Given the description of an element on the screen output the (x, y) to click on. 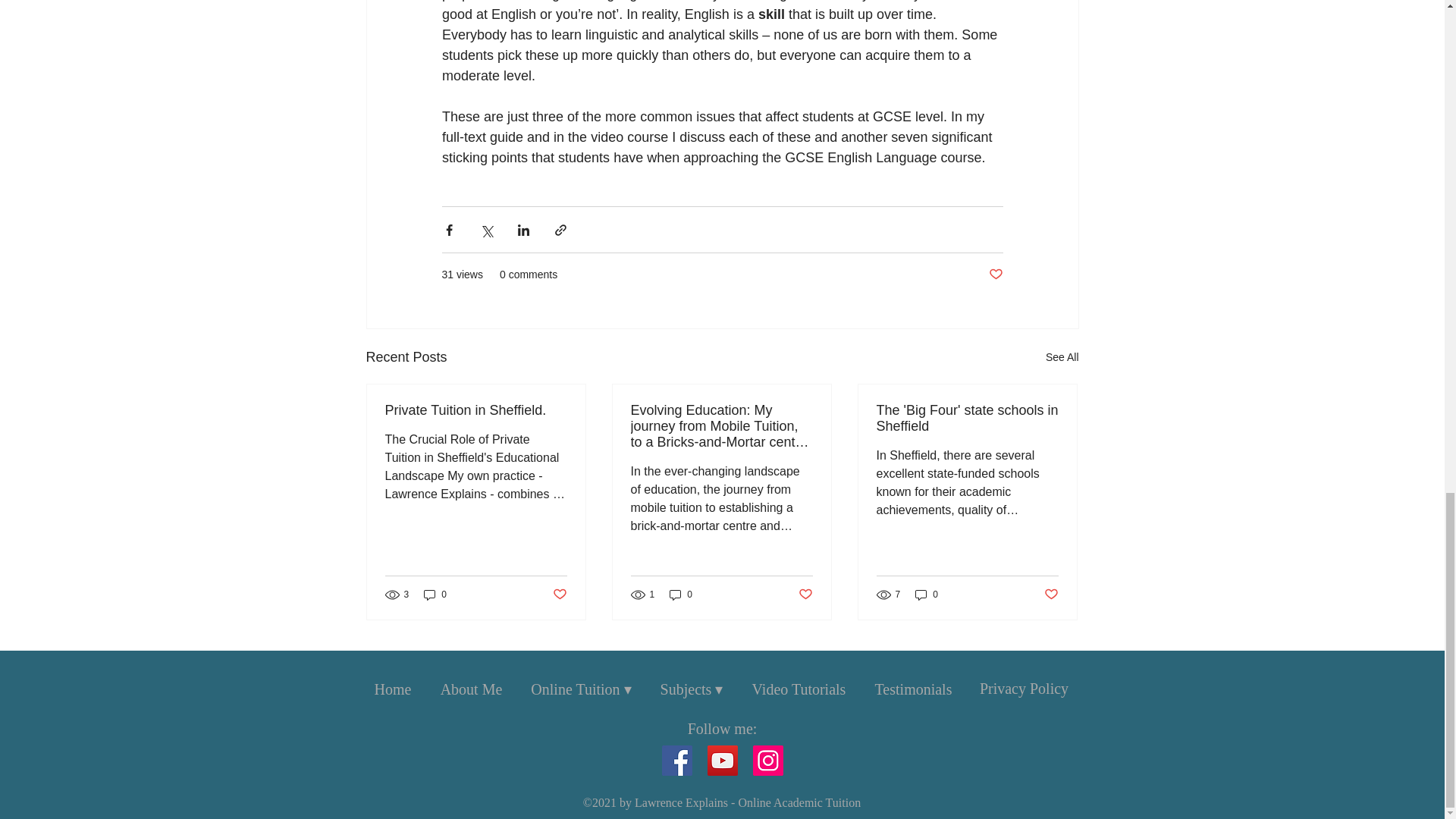
0 (435, 594)
Post not marked as liked (995, 274)
See All (1061, 357)
Post not marked as liked (1050, 594)
About Me (471, 689)
Post not marked as liked (558, 594)
Private Tuition in Sheffield. (476, 410)
0 (926, 594)
The 'Big Four' state schools in Sheffield (967, 418)
